Given the description of an element on the screen output the (x, y) to click on. 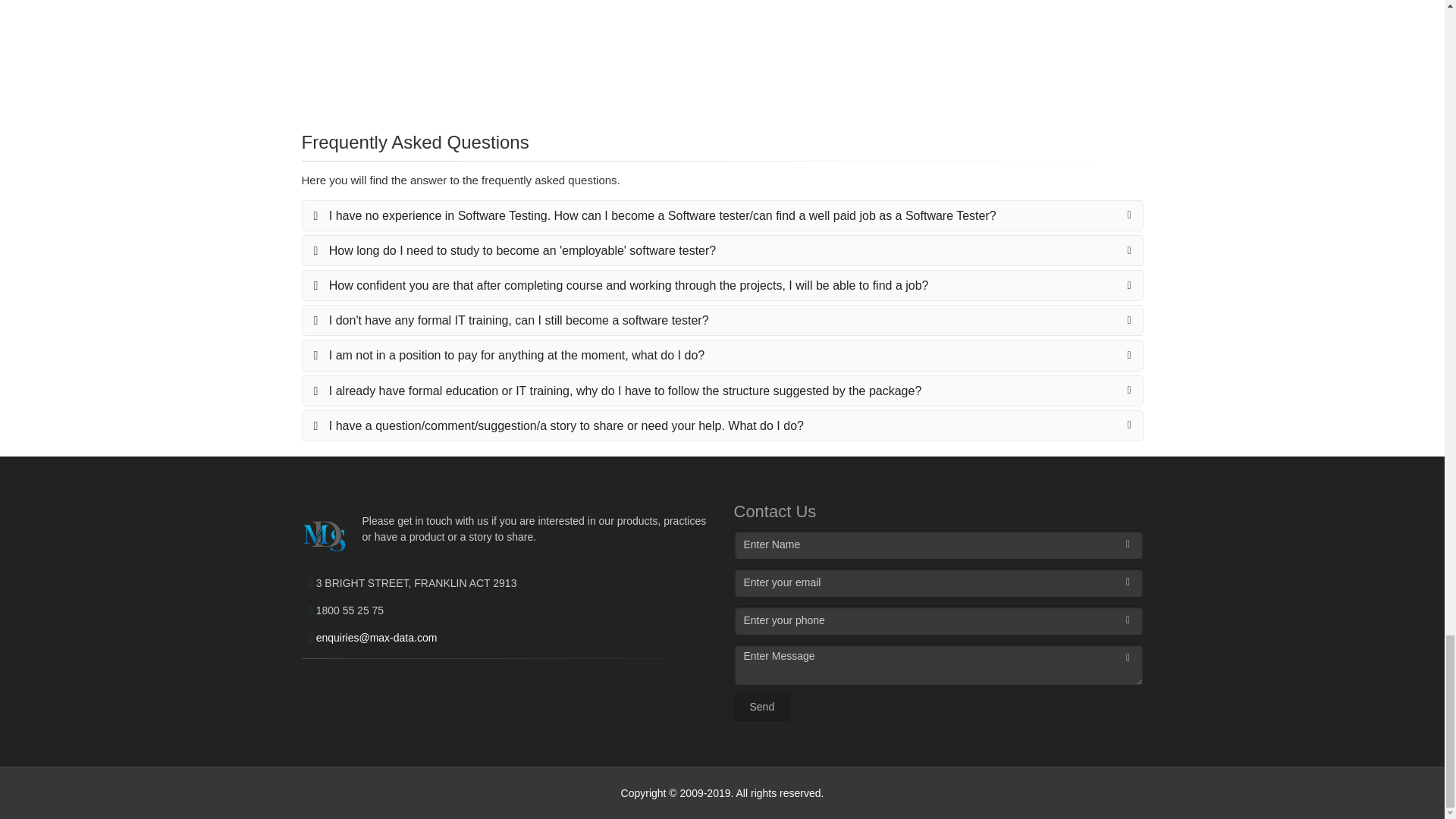
Send (761, 706)
Send (761, 706)
